Given the description of an element on the screen output the (x, y) to click on. 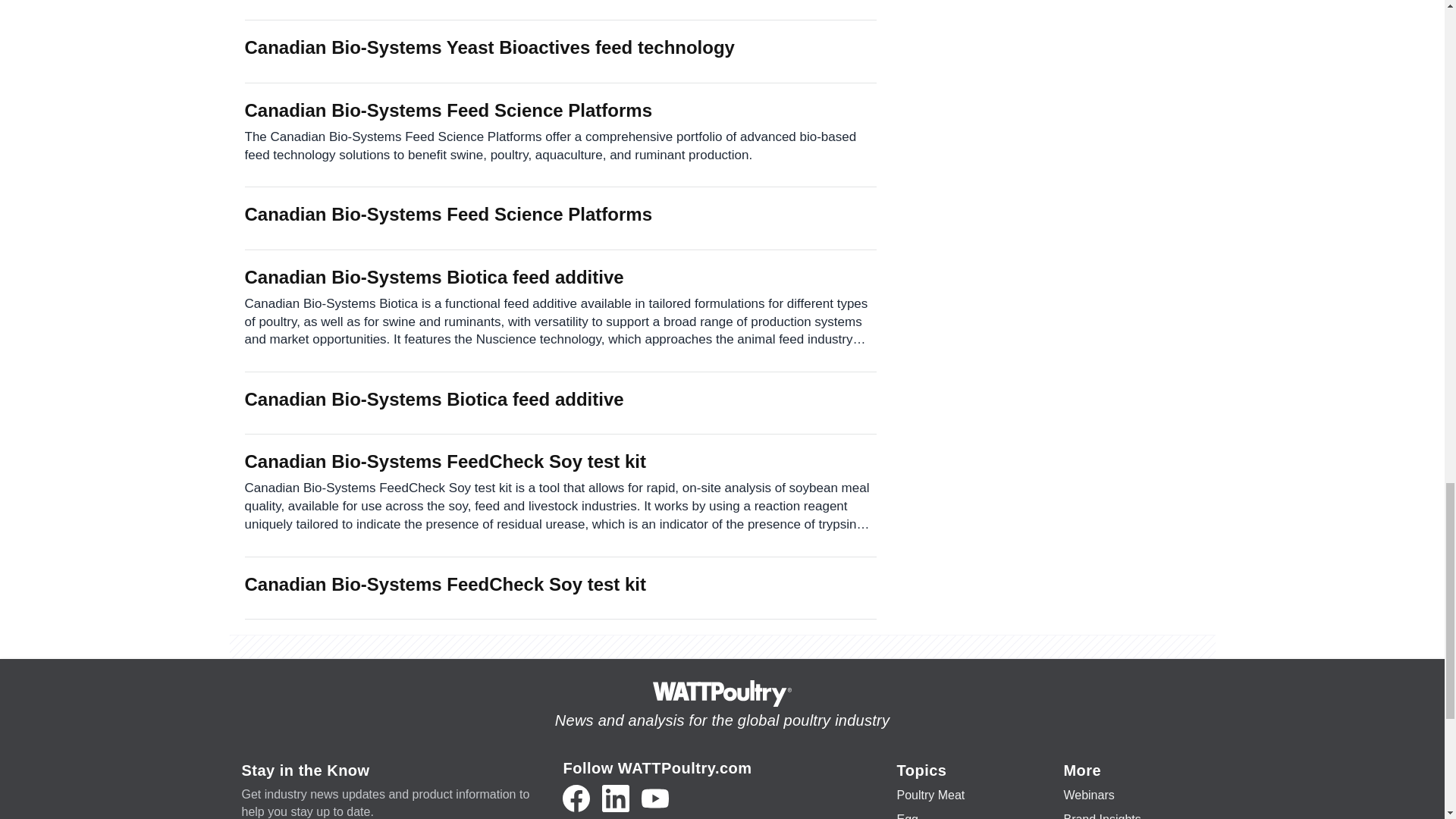
Visit us on Youtube (655, 798)
LinkedIn icon (615, 798)
YouTube icon (655, 798)
Visit us on Linkedin (615, 798)
Visit us on Facebook (575, 798)
Facebook icon (575, 798)
